Given the description of an element on the screen output the (x, y) to click on. 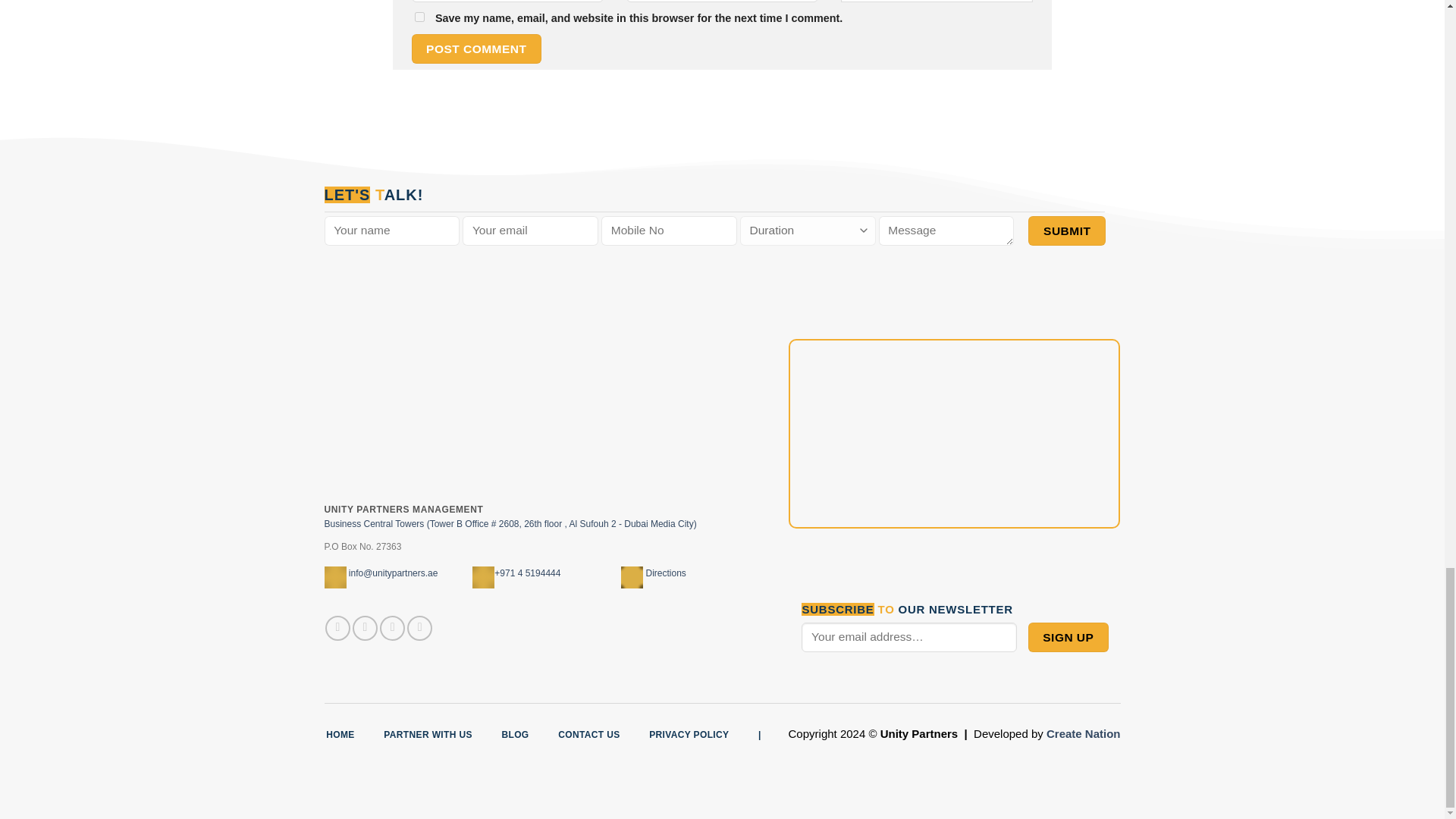
Sign Up (1067, 636)
Submit (1066, 230)
yes (418, 17)
Follow on Facebook (337, 627)
Post Comment (475, 48)
Follow on LinkedIn (419, 627)
Follow on Instagram (364, 627)
Follow on TikTok (392, 627)
